Given the description of an element on the screen output the (x, y) to click on. 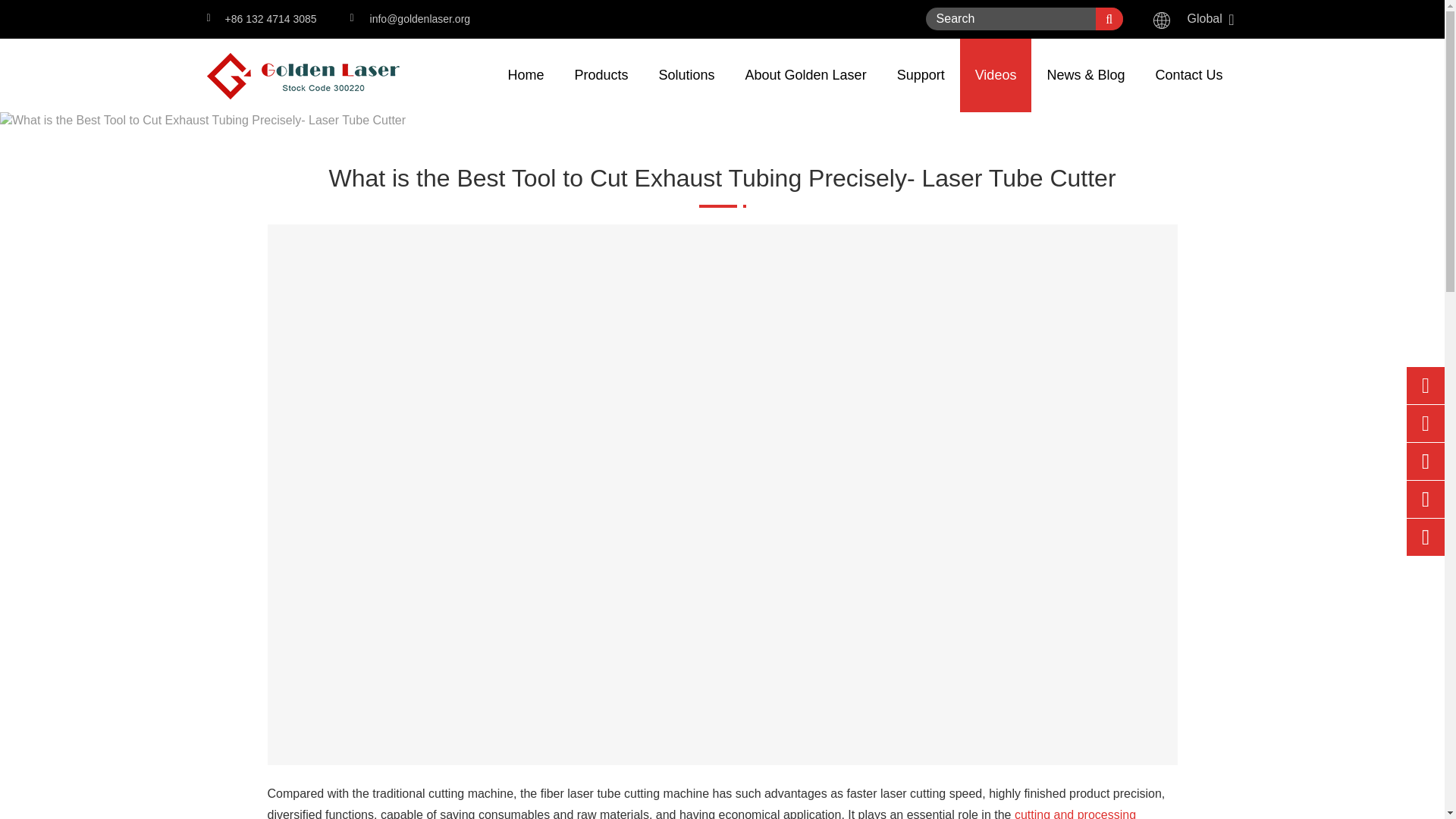
country (1161, 20)
Global (1202, 19)
submit (1109, 18)
